Given the description of an element on the screen output the (x, y) to click on. 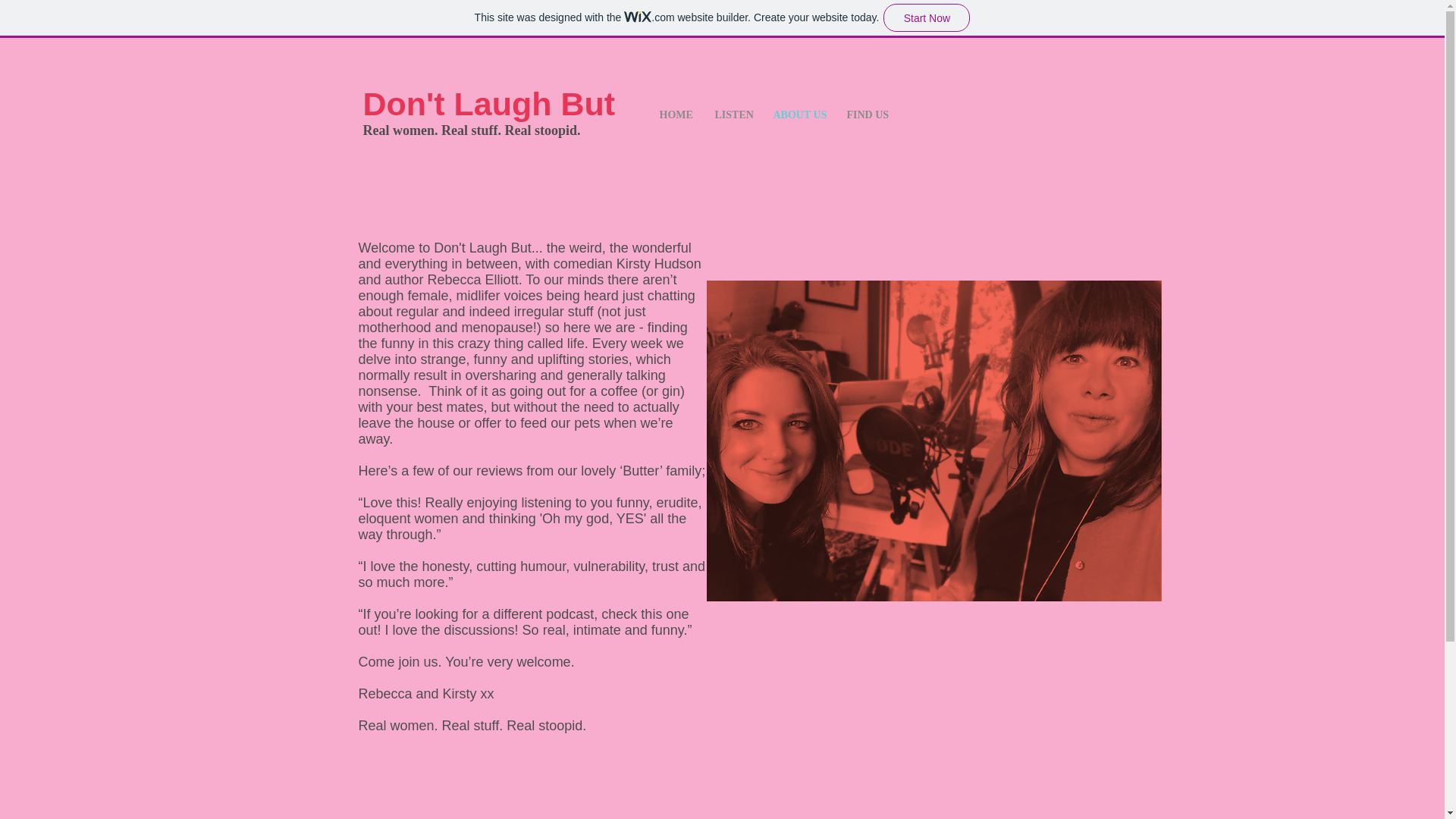
ABOUT US (797, 115)
LISTEN (732, 115)
HOME (675, 115)
FIND US (867, 115)
